Given the description of an element on the screen output the (x, y) to click on. 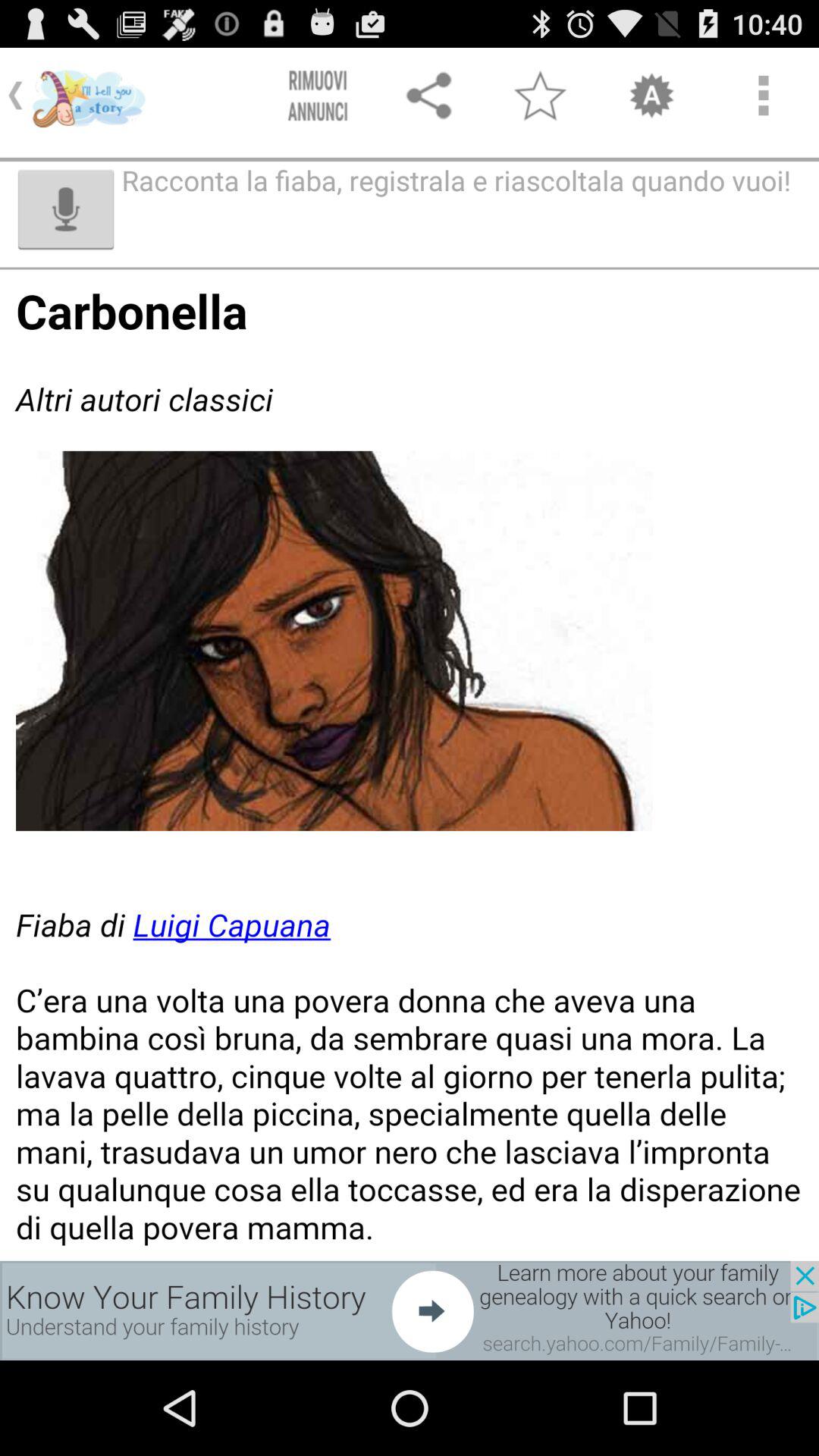
new advertisement go option (409, 1310)
